Given the description of an element on the screen output the (x, y) to click on. 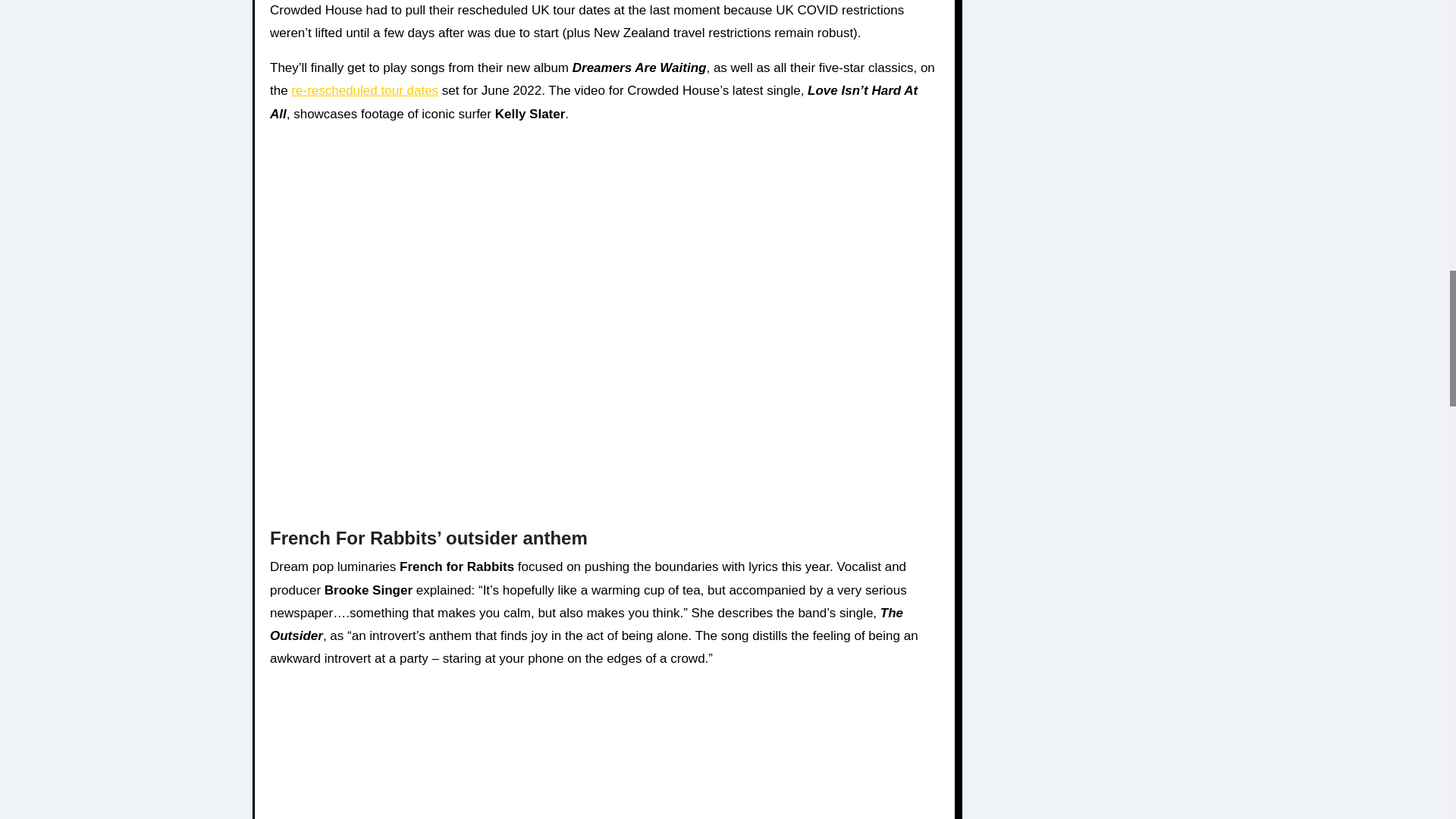
re-rescheduled tour dates (364, 90)
